Given the description of an element on the screen output the (x, y) to click on. 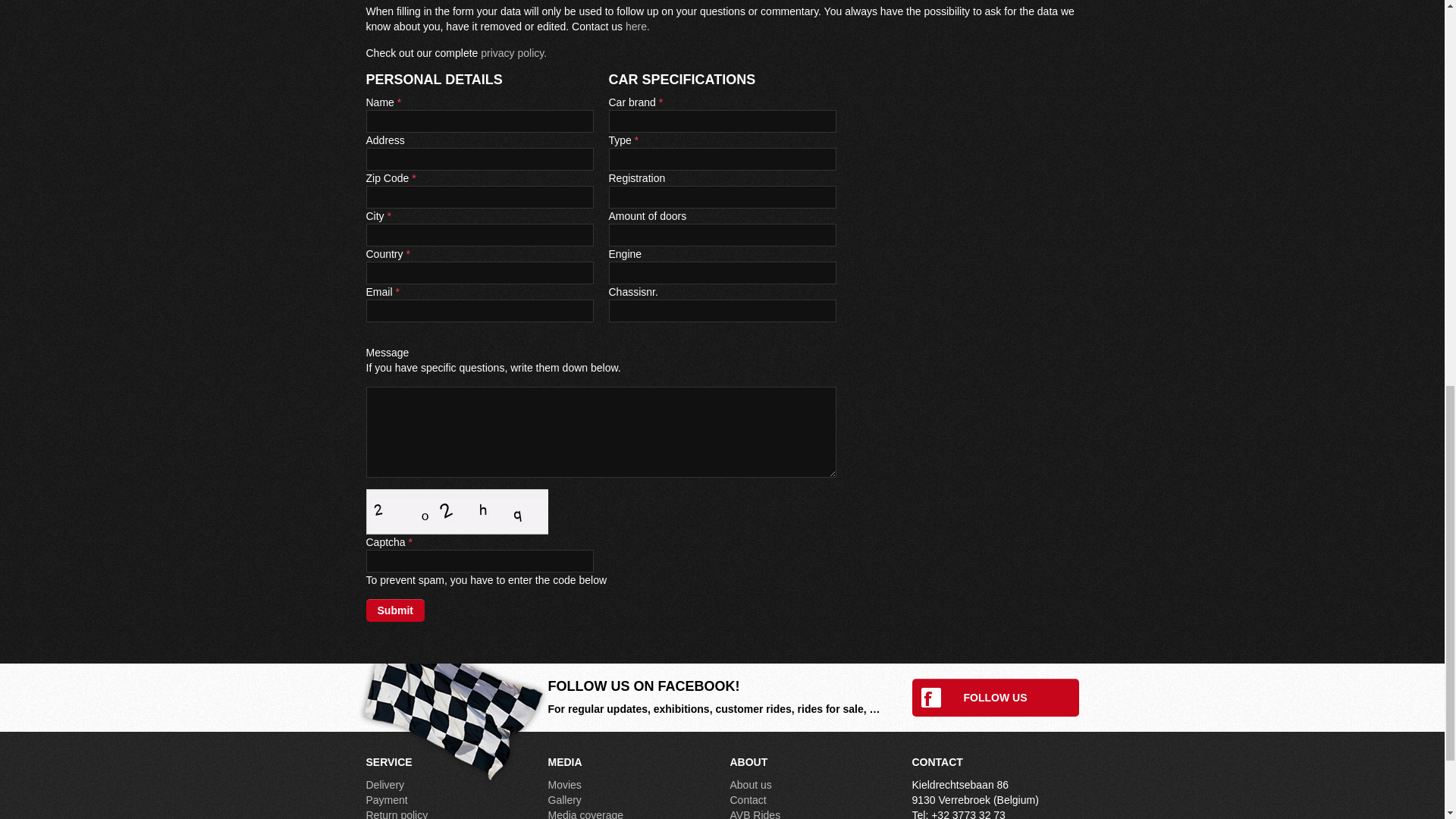
Submit (394, 609)
